Given the description of an element on the screen output the (x, y) to click on. 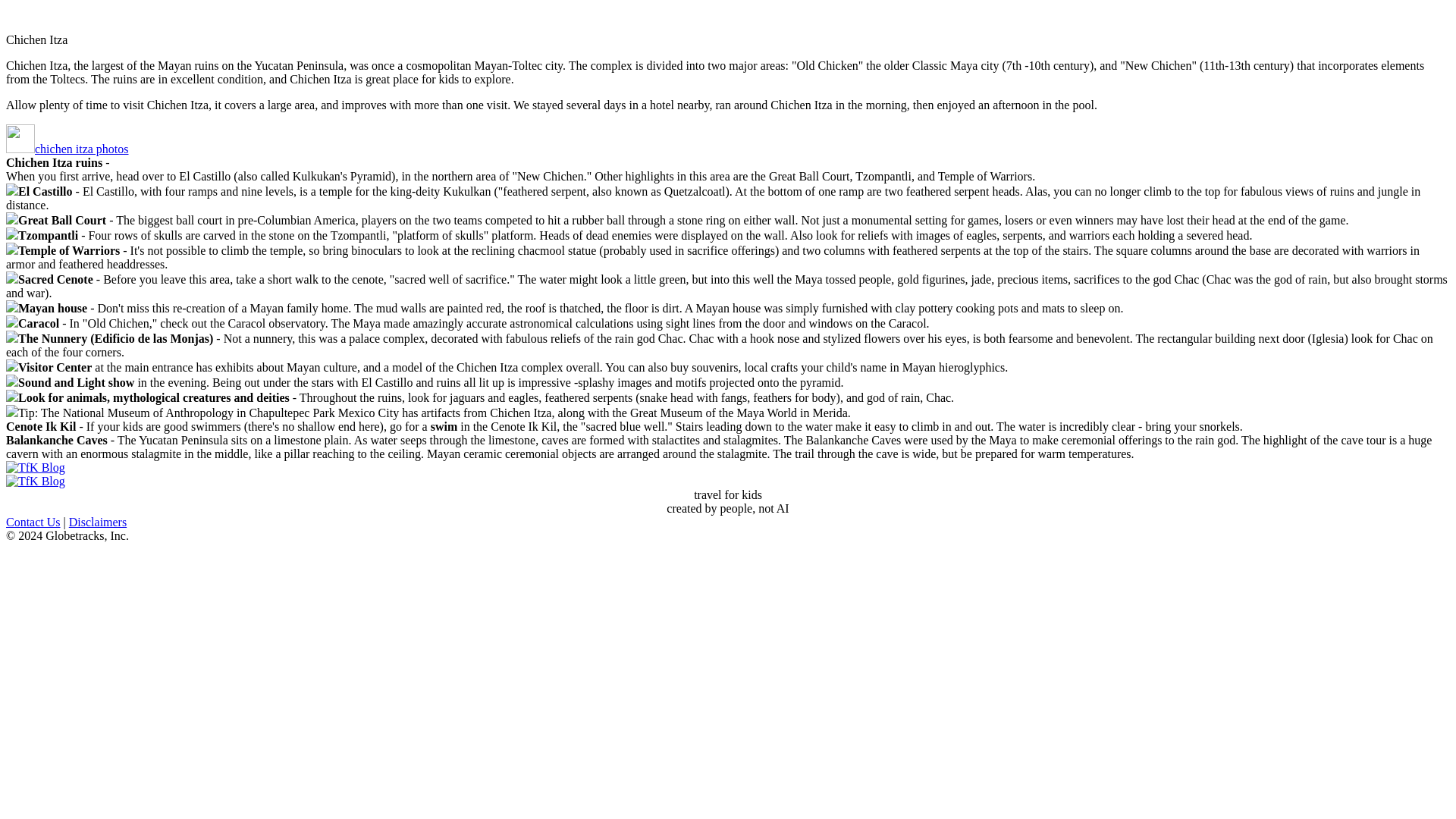
Disclaimers (97, 521)
chichen itza photos (81, 148)
Contact Us (33, 521)
